Given the description of an element on the screen output the (x, y) to click on. 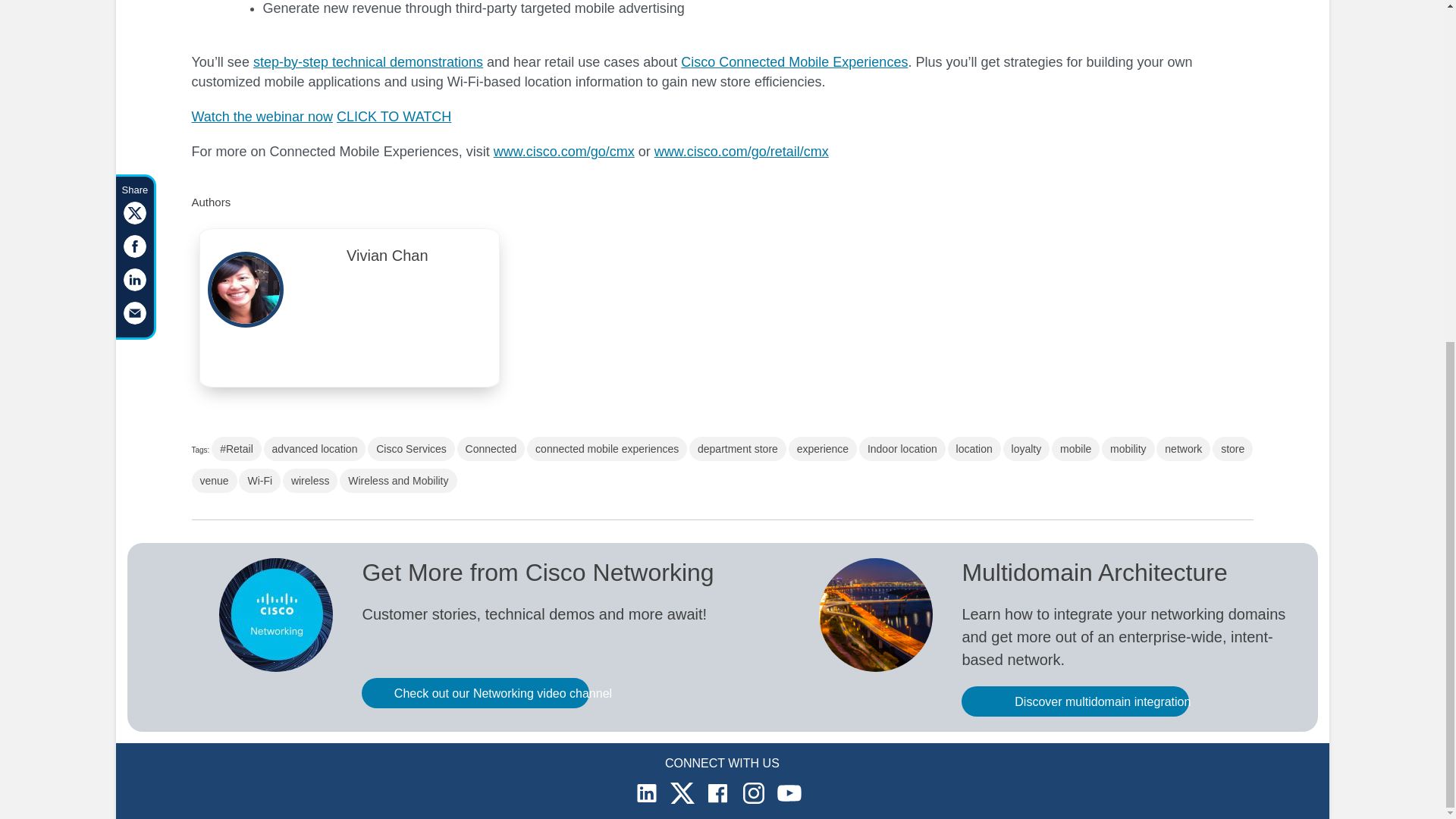
department store (737, 448)
Watch the webinar now (260, 116)
Vivian Chan (387, 259)
advanced location (314, 448)
network (1182, 448)
step-by-step technical demonstrations (368, 61)
loyalty (1026, 448)
Indoor location (901, 448)
CLICK TO WATCH (393, 116)
Cisco Connected Mobile Experiences (794, 61)
Cisco Services (411, 448)
Connected (491, 448)
connected mobile experiences (607, 448)
venue (212, 480)
mobility (1128, 448)
